Given the description of an element on the screen output the (x, y) to click on. 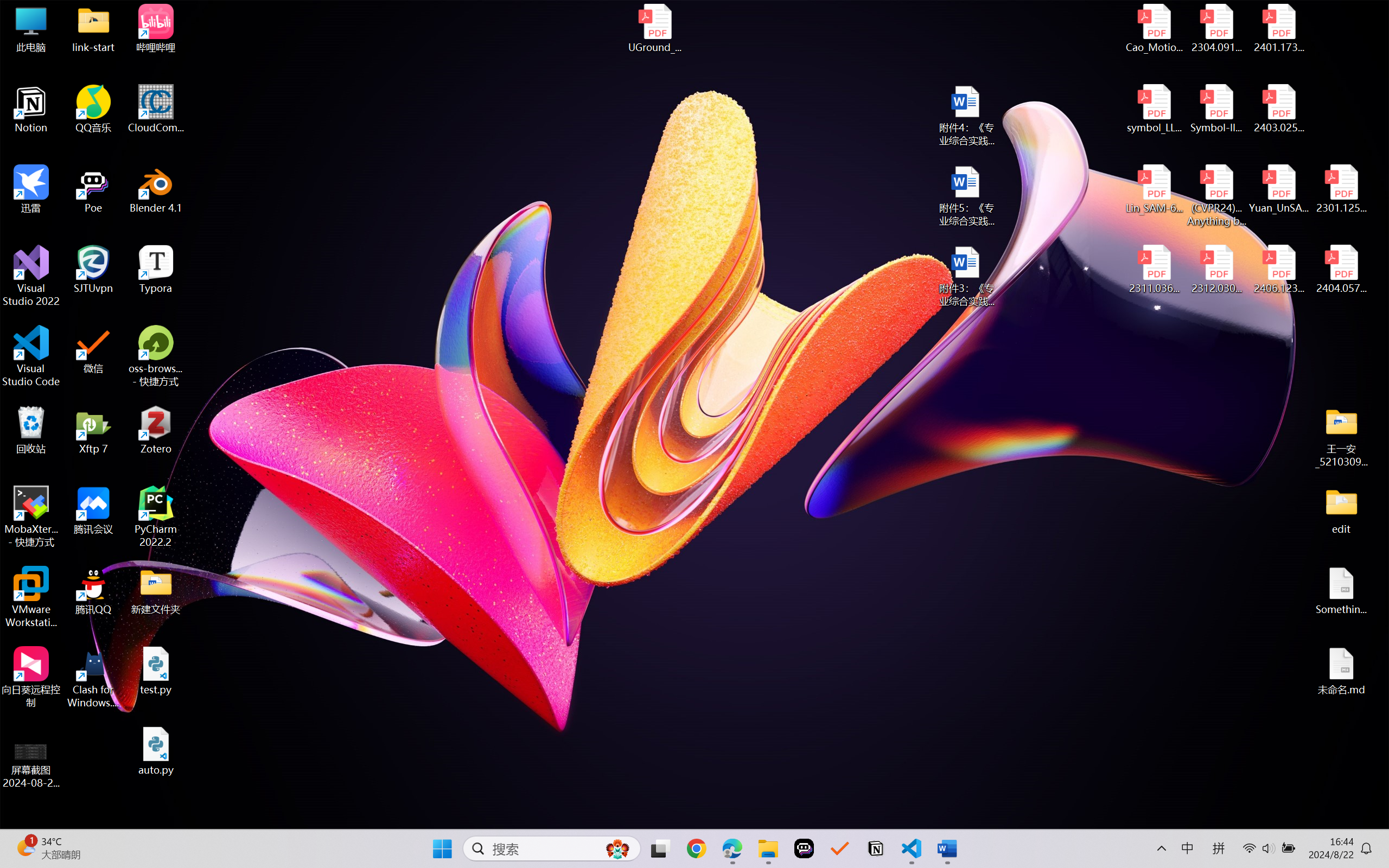
symbol_LLM.pdf (1154, 109)
Xftp 7 (93, 430)
UGround_paper.pdf (654, 28)
edit (1340, 510)
2406.12373v2.pdf (1278, 269)
Blender 4.1 (156, 189)
